Given the description of an element on the screen output the (x, y) to click on. 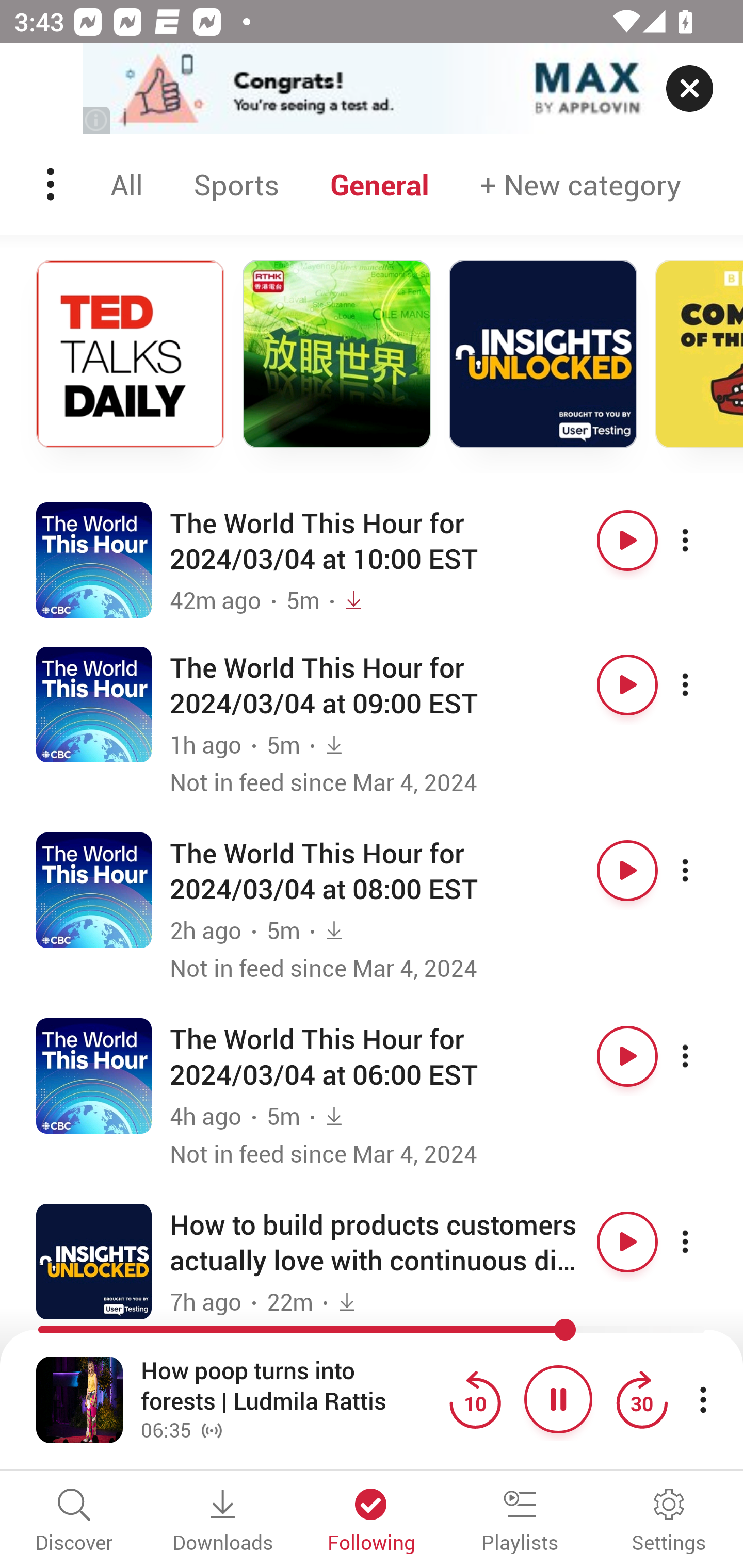
app-monetization (371, 88)
(i) (96, 119)
Menu (52, 184)
All (128, 184)
Sports (235, 184)
General (379, 184)
New category + New category (580, 184)
TED Talks Daily (130, 354)
放眼世界 (336, 354)
Insights Unlocked (542, 354)
Play button (627, 540)
More options (703, 540)
Open series The World This Hour (93, 559)
Play button (627, 685)
More options (703, 685)
Open series The World This Hour (93, 704)
Play button (627, 871)
More options (703, 871)
Open series The World This Hour (93, 890)
Play button (627, 1056)
More options (703, 1056)
Open series The World This Hour (93, 1075)
Play button (627, 1241)
More options (703, 1241)
Open series Insights Unlocked (93, 1261)
Open fullscreen player (79, 1399)
More player controls (703, 1399)
How poop turns into forests | Ludmila Rattis (290, 1385)
Pause button (558, 1398)
Jump back (475, 1399)
Jump forward (641, 1399)
Discover (74, 1521)
Downloads (222, 1521)
Following (371, 1521)
Playlists (519, 1521)
Settings (668, 1521)
